Given the description of an element on the screen output the (x, y) to click on. 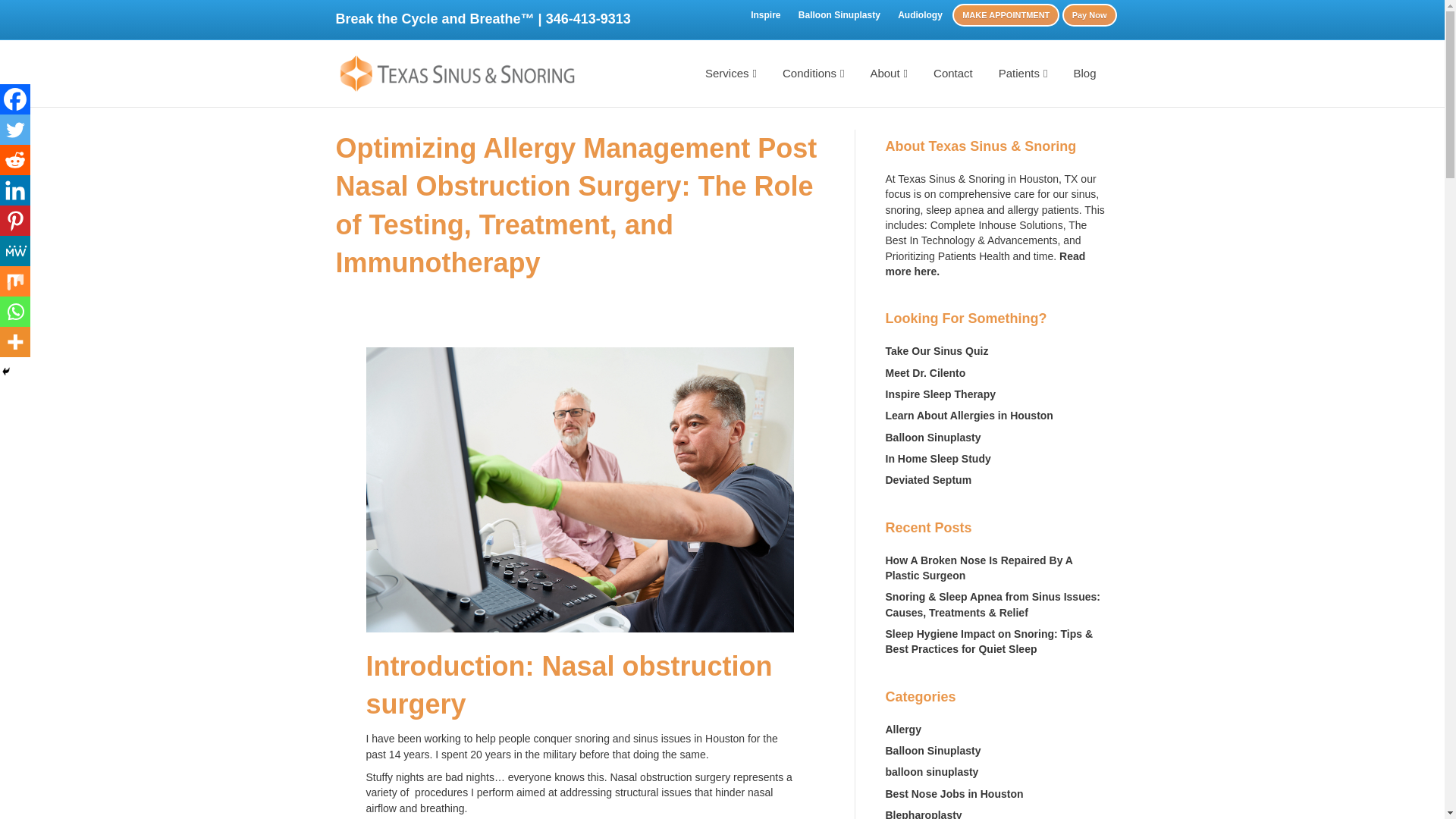
Linkedin (15, 190)
Pay Now (1089, 14)
Balloon Sinuplasty (839, 14)
Reddit (15, 159)
Mix (15, 281)
MAKE APPOINTMENT (1006, 14)
346-413-9313 (588, 18)
Pinterest (15, 220)
Inspire (764, 14)
Facebook (15, 99)
More (15, 341)
MeWe (15, 250)
Audiology (919, 14)
Twitter (15, 129)
Services (731, 74)
